Given the description of an element on the screen output the (x, y) to click on. 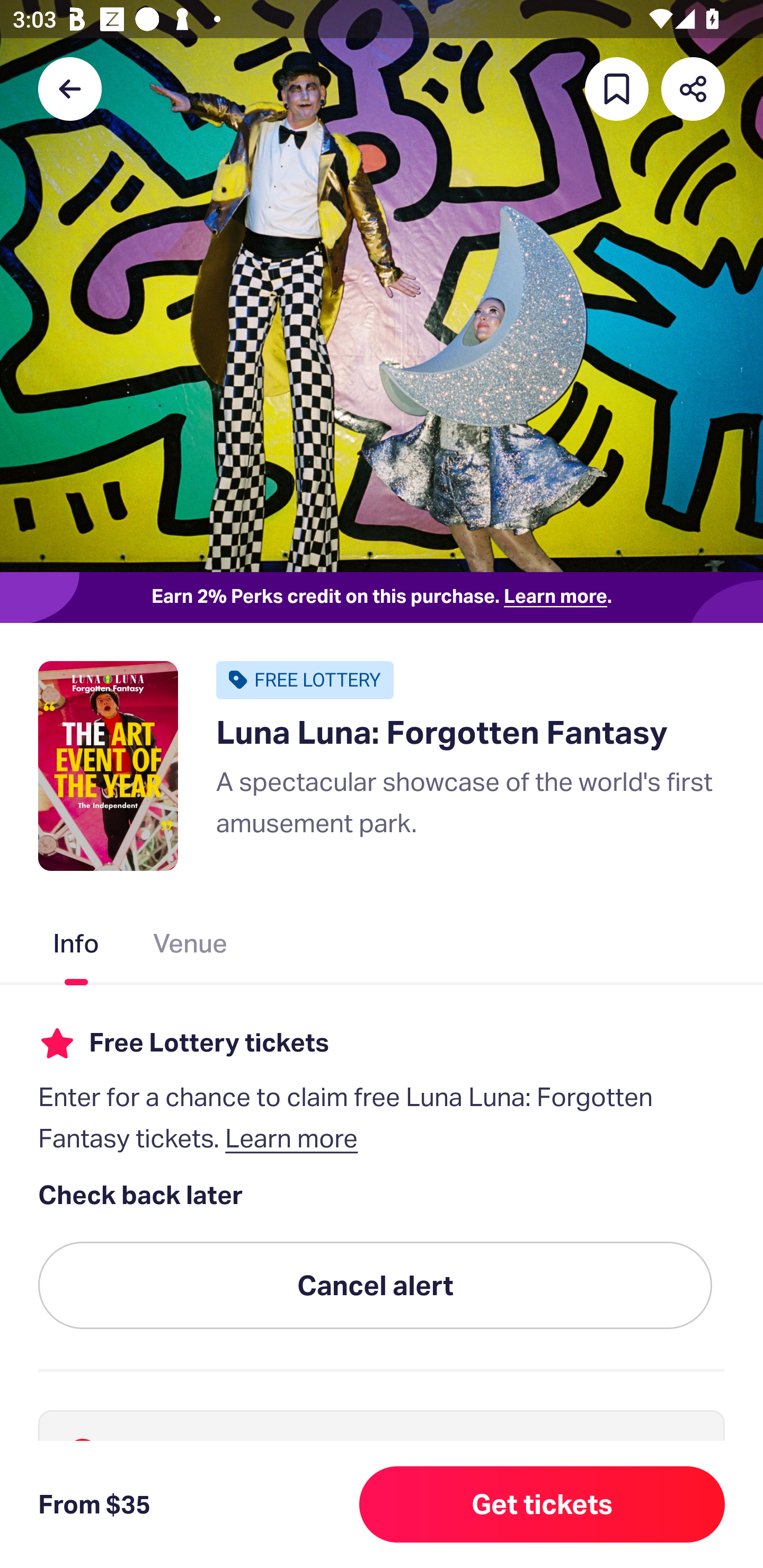
Earn 2% Perks credit on this purchase. Learn more. (381, 597)
Venue (190, 946)
Cancel alert (374, 1286)
Get tickets (541, 1504)
